Given the description of an element on the screen output the (x, y) to click on. 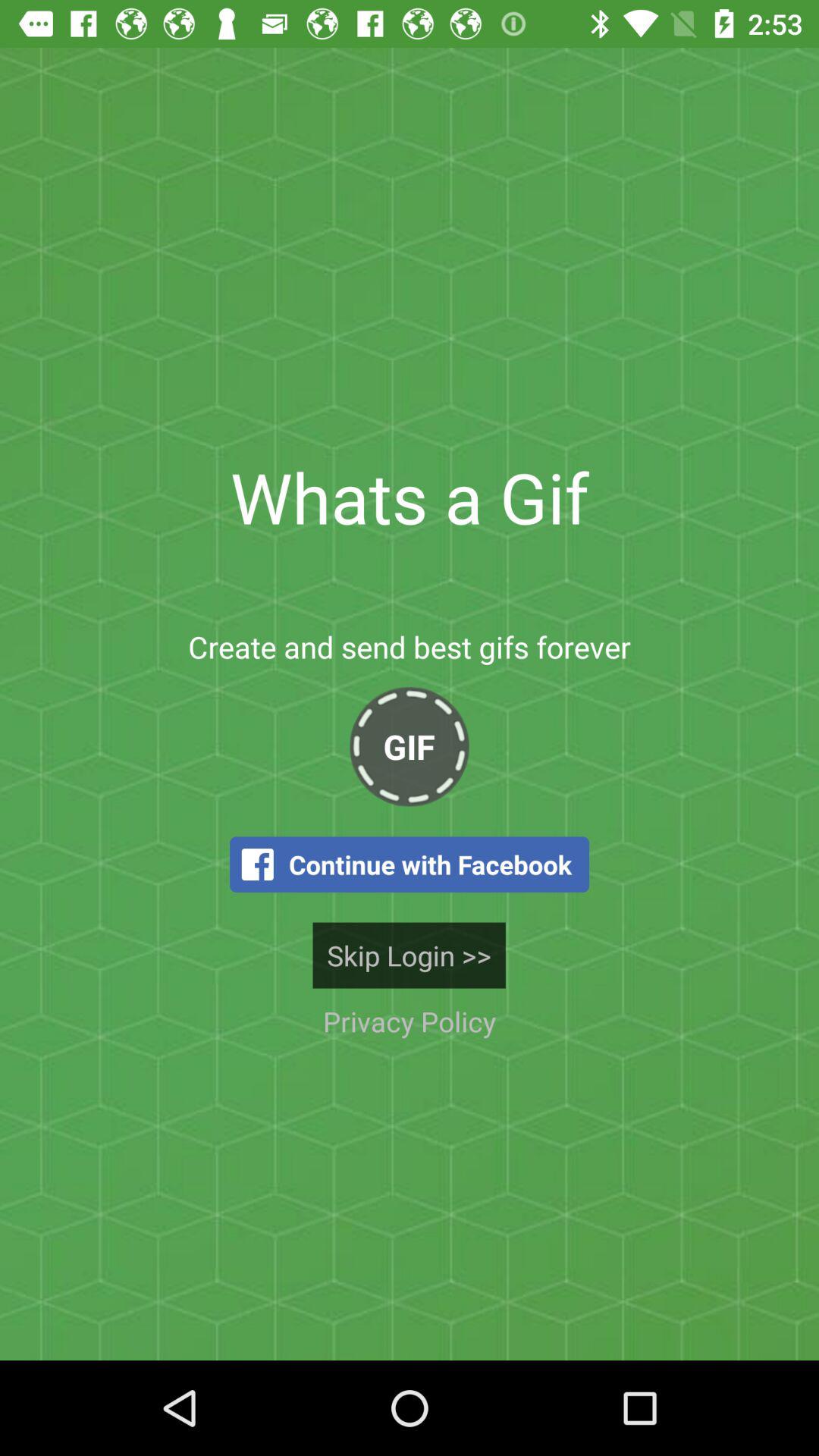
swipe to privacy policy item (409, 1021)
